Given the description of an element on the screen output the (x, y) to click on. 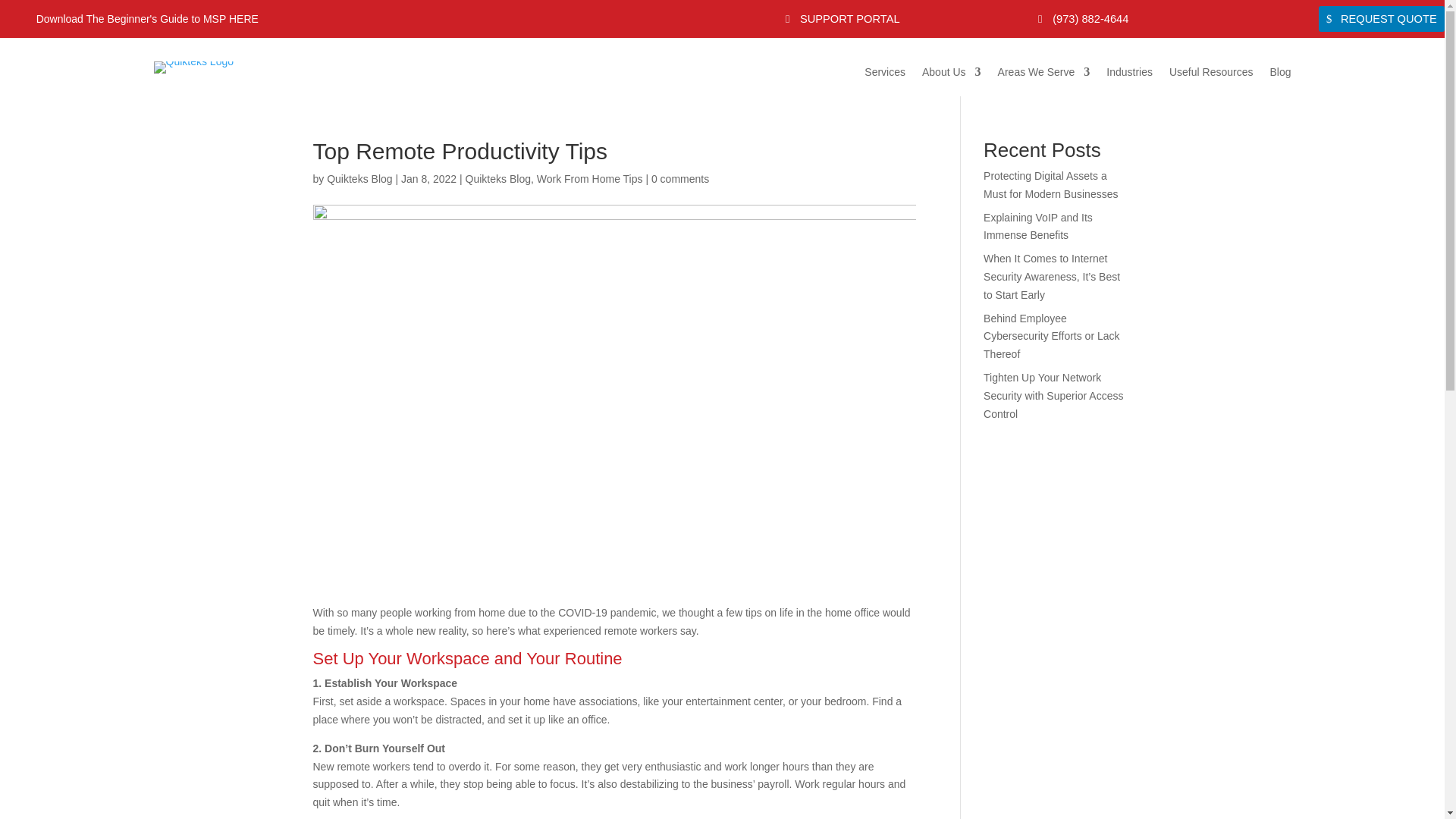
Services (884, 77)
Posts by Quikteks Blog (358, 178)
Areas We Serve (1043, 77)
QT-Logo-Black-e1581717168789 (192, 66)
Work From Home Tips (590, 178)
About Us (951, 77)
SUPPORT PORTAL (842, 18)
Quikteks Blog (358, 178)
Blog (1279, 77)
Download The Beginner's Guide to MSP HERE (129, 19)
